Given the description of an element on the screen output the (x, y) to click on. 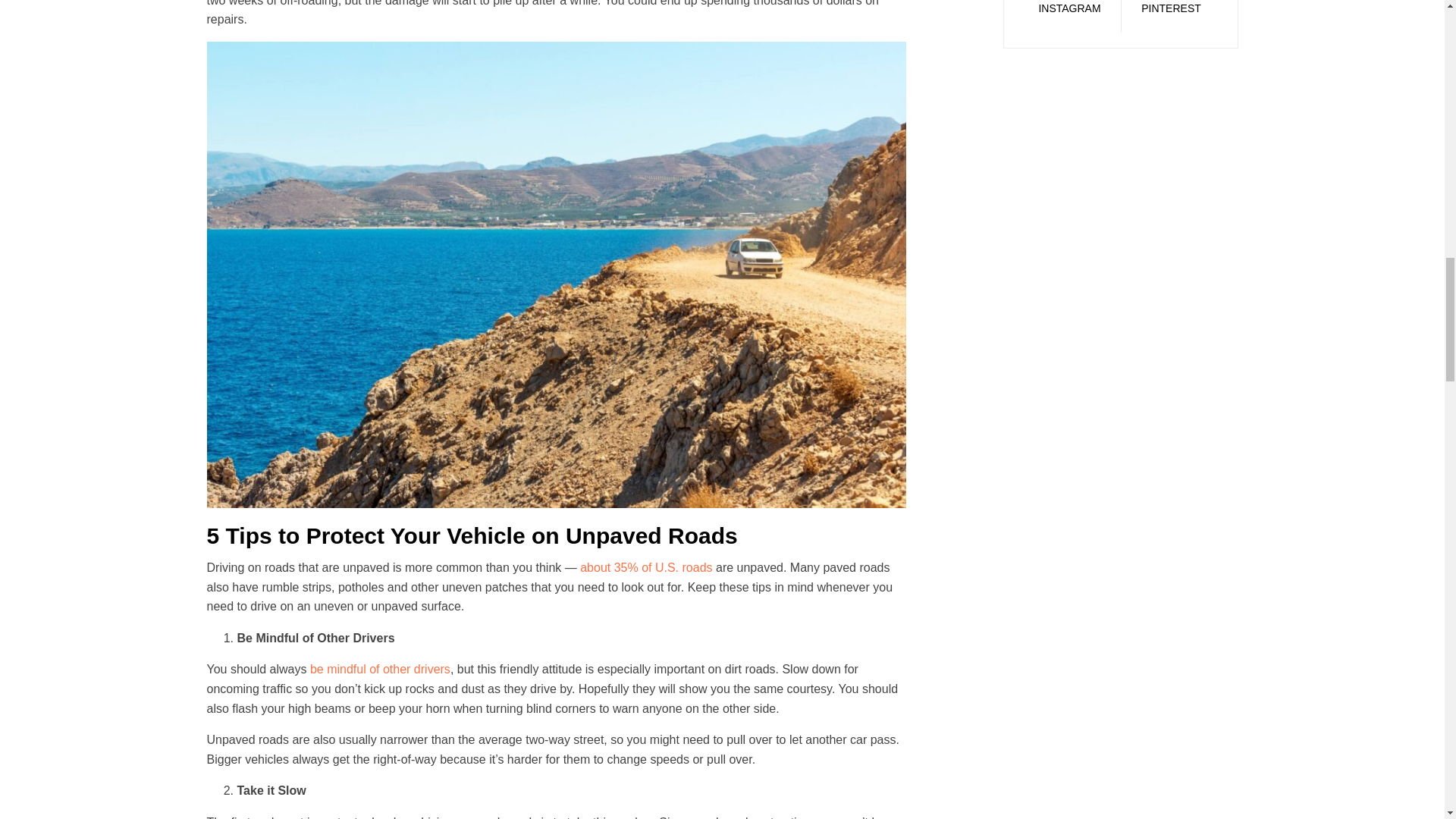
be mindful of other drivers (379, 668)
